Given the description of an element on the screen output the (x, y) to click on. 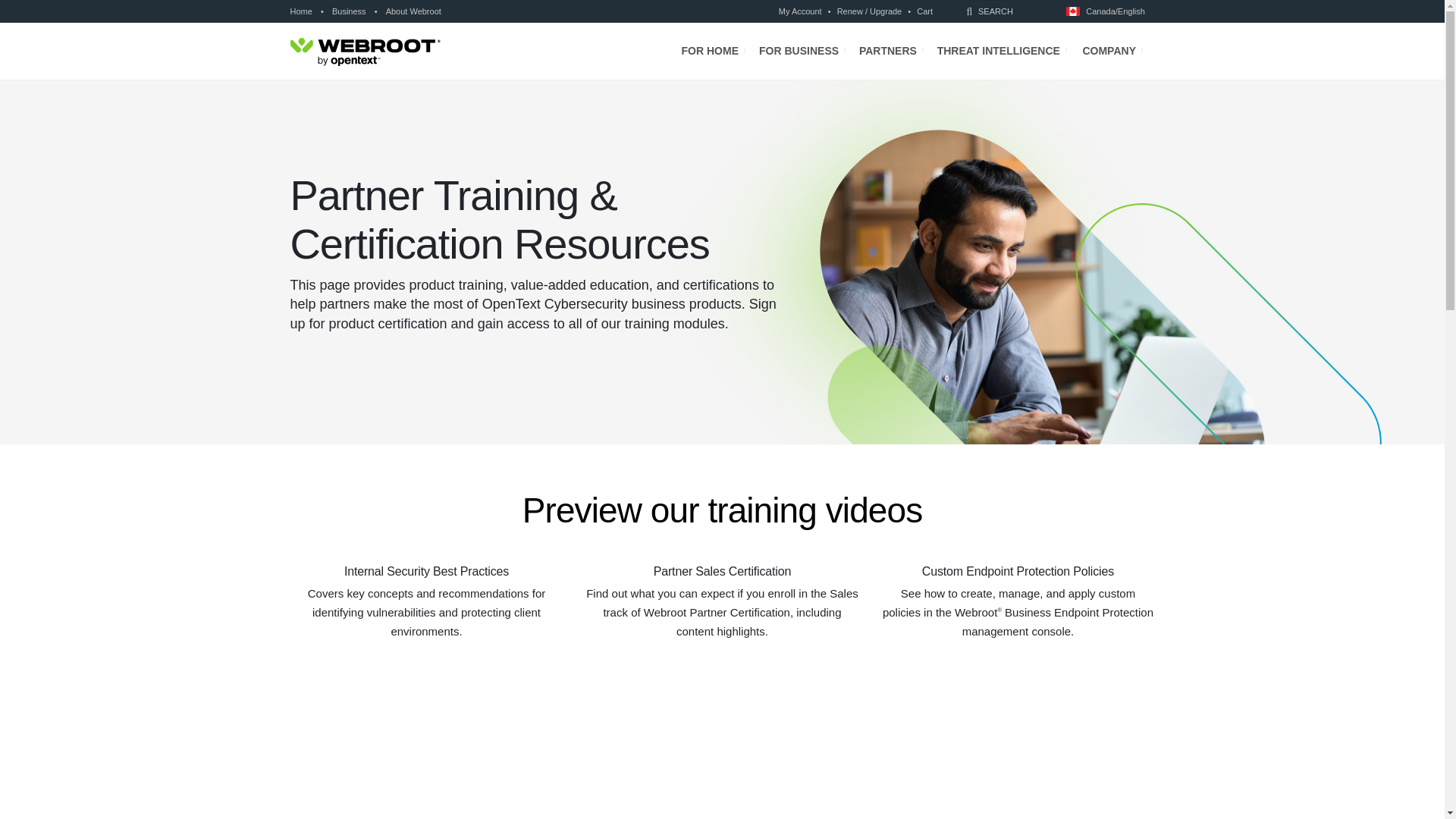
Cart (922, 10)
My Account (801, 10)
Business (349, 10)
FOR HOME (713, 50)
Home (302, 10)
About Webroot (411, 10)
